Given the description of an element on the screen output the (x, y) to click on. 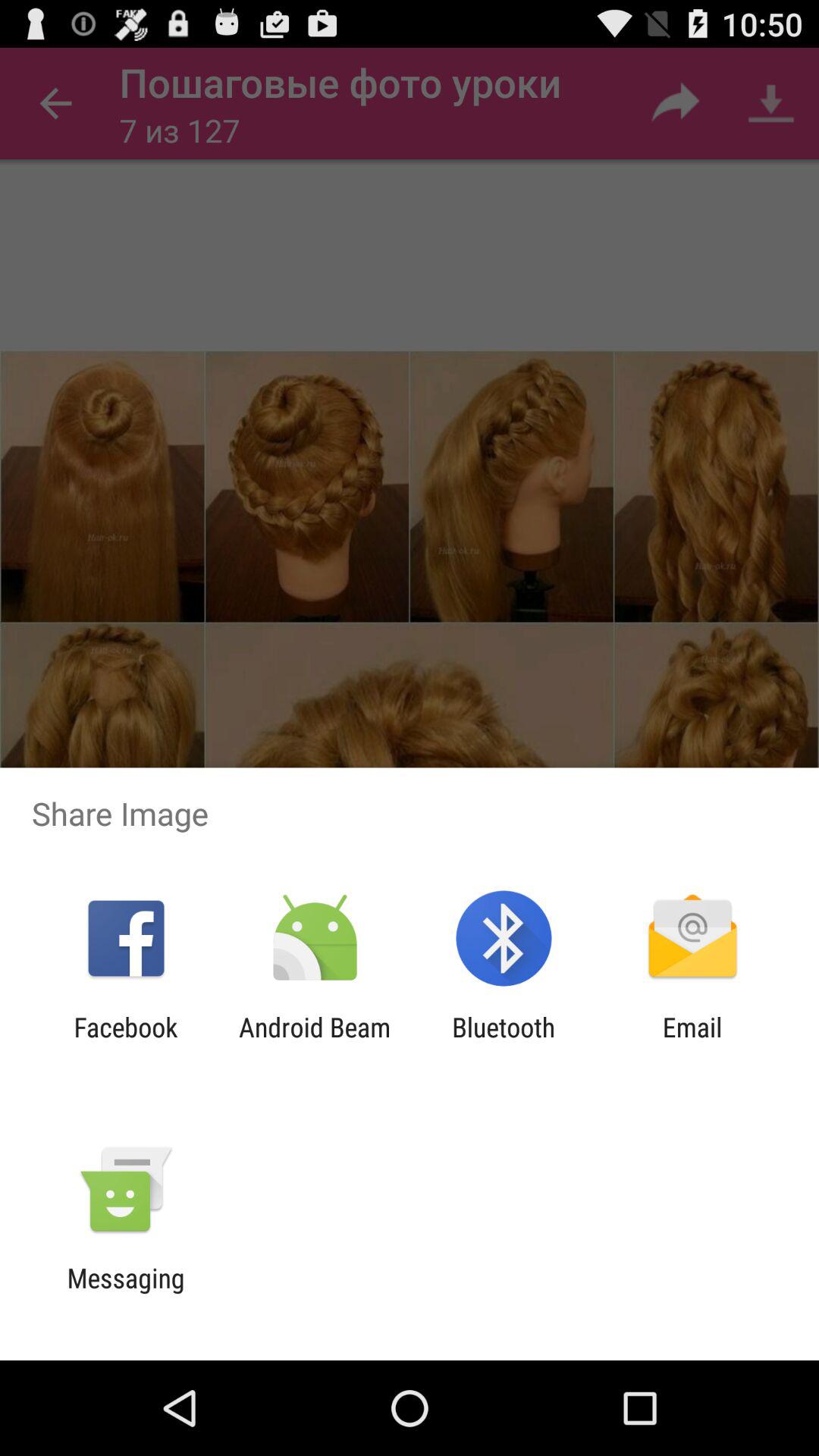
scroll until facebook icon (125, 1042)
